Given the description of an element on the screen output the (x, y) to click on. 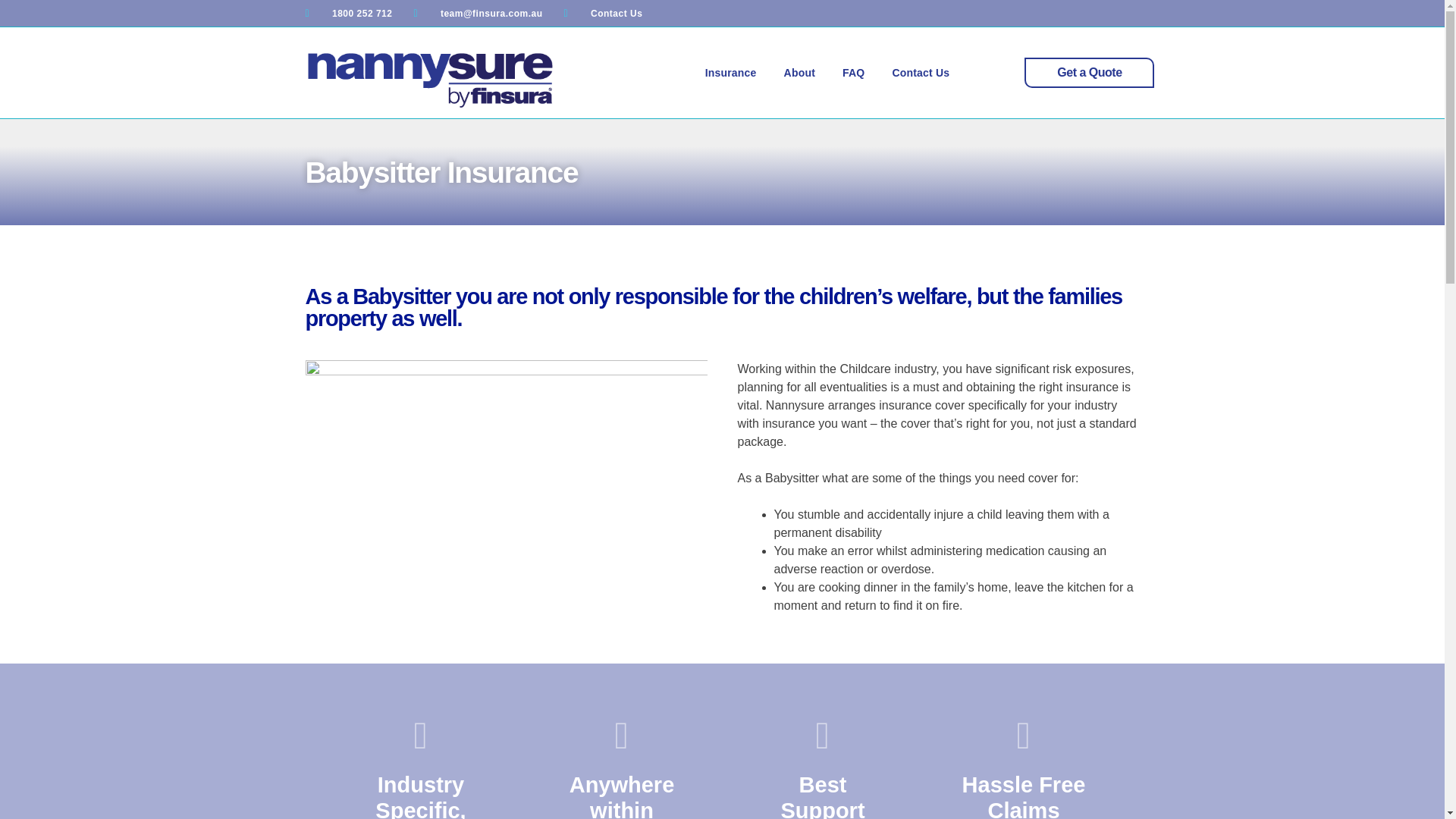
Contact Us (602, 12)
Get a Quote (1089, 72)
Contact Us (919, 72)
1800 252 712 (347, 12)
